Given the description of an element on the screen output the (x, y) to click on. 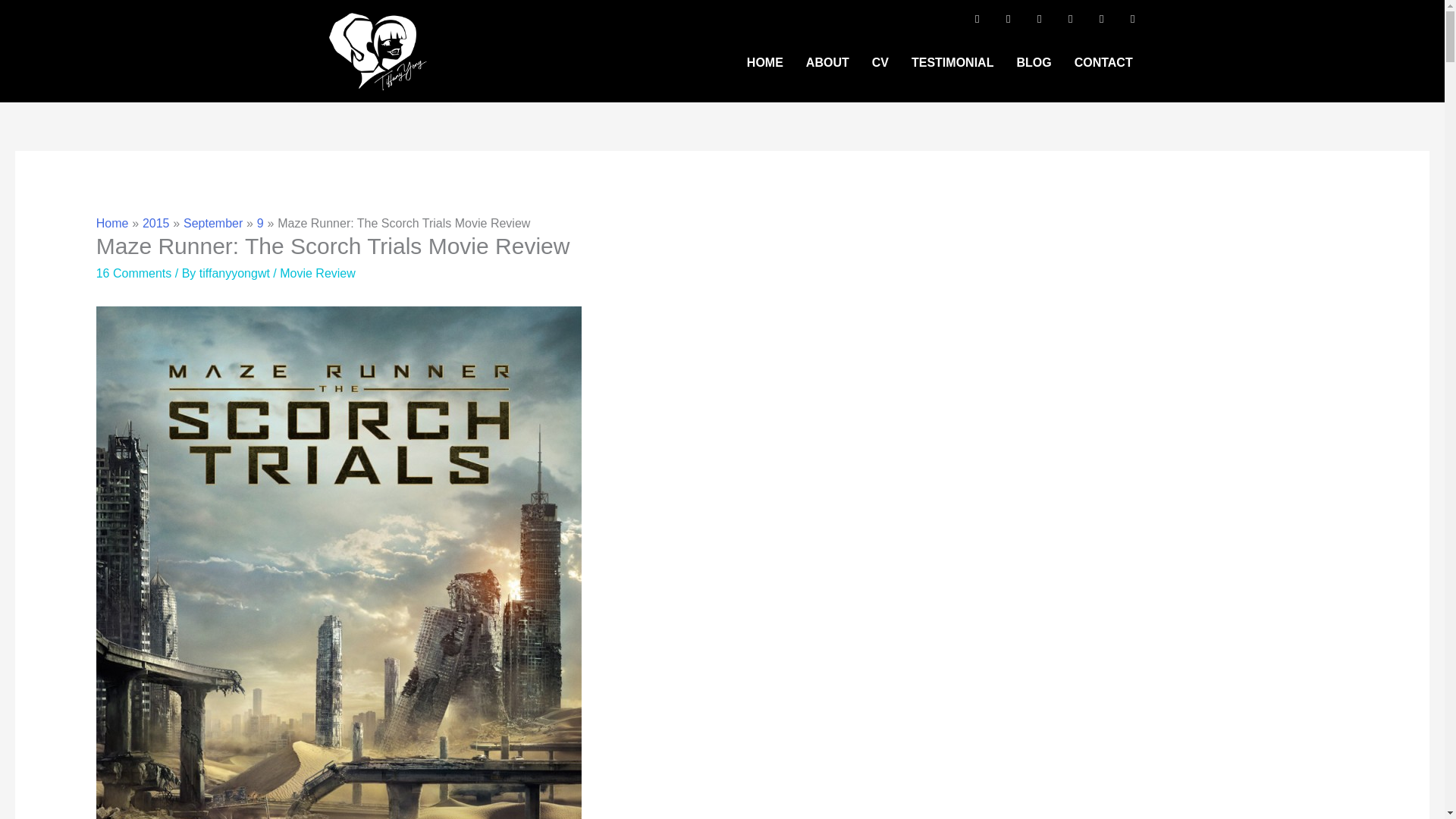
2015 (156, 223)
tiffanyyongwt (236, 273)
ABOUT (827, 62)
16 Comments (133, 273)
CV (879, 62)
HOME (764, 62)
View all posts by tiffanyyongwt (236, 273)
September (213, 223)
BLOG (1033, 62)
CONTACT (1103, 62)
